Given the description of an element on the screen output the (x, y) to click on. 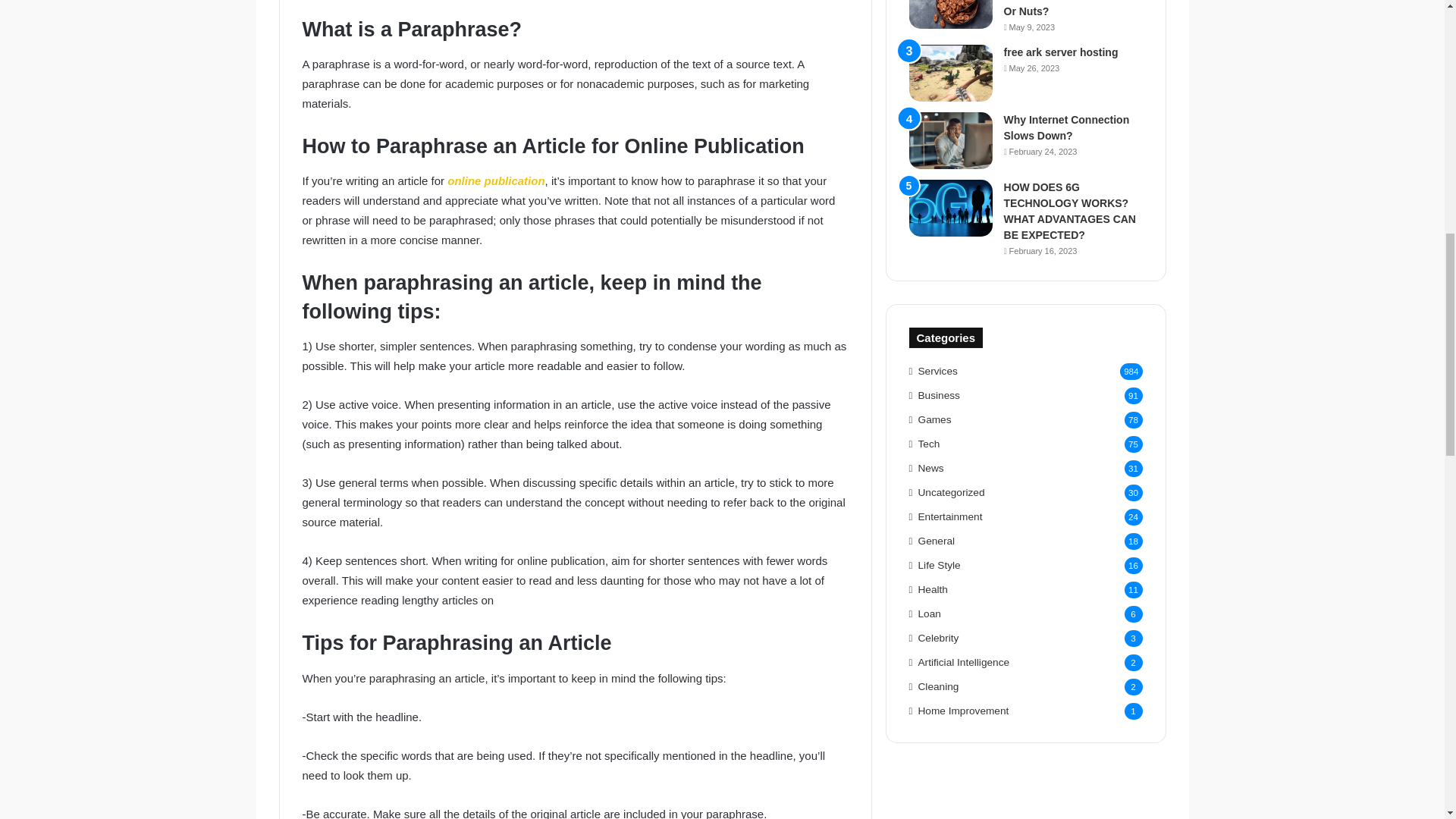
online publication (495, 180)
